Given the description of an element on the screen output the (x, y) to click on. 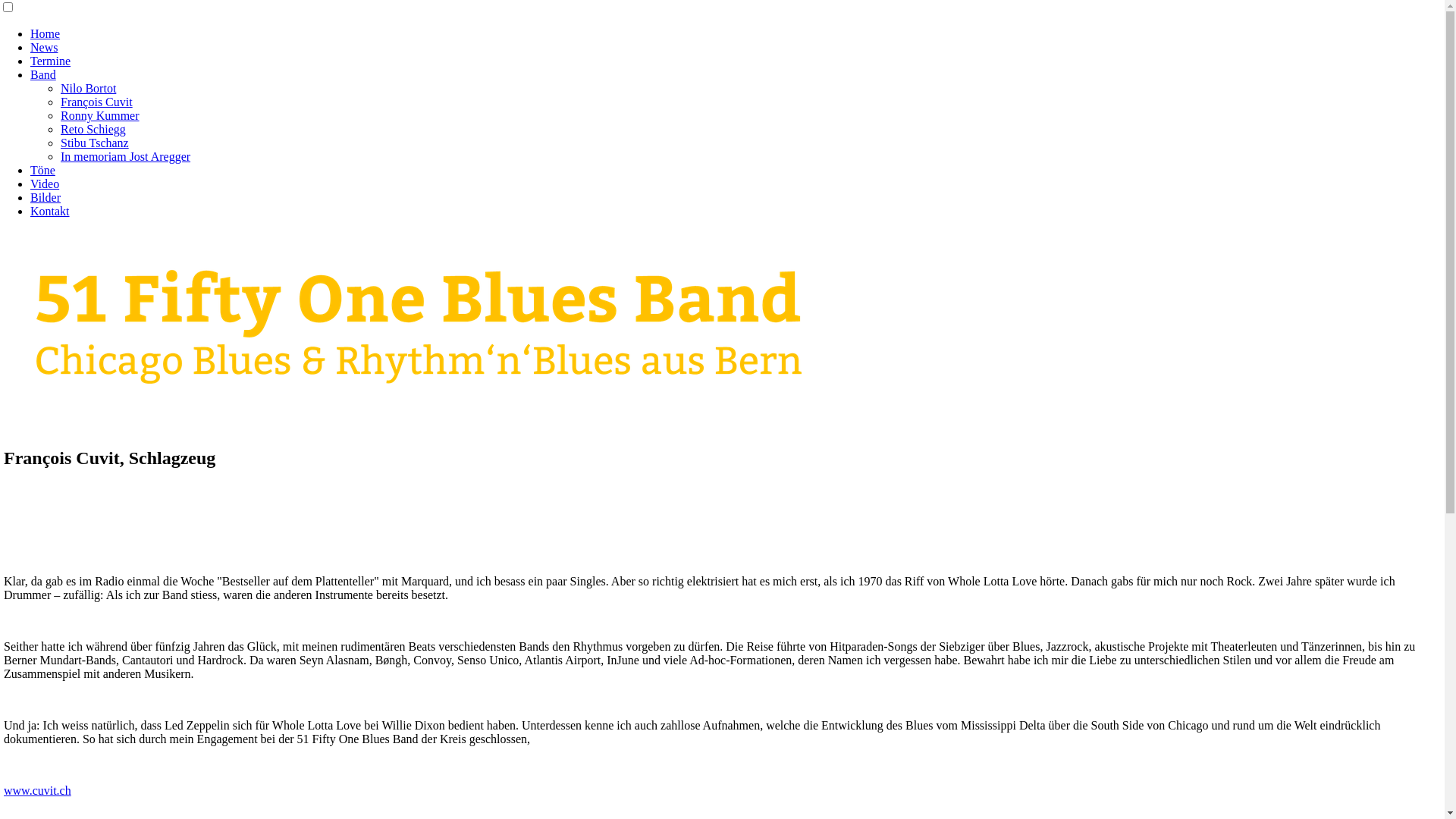
In memoriam Jost Aregger Element type: text (125, 156)
Kontakt Element type: text (49, 210)
Bilder Element type: text (45, 197)
News Element type: text (43, 46)
Video Element type: text (44, 183)
Nilo Bortot Element type: text (88, 87)
Band Element type: text (43, 74)
Home Element type: text (44, 33)
Ronny Kummer Element type: text (99, 115)
Reto Schiegg Element type: text (92, 128)
www.cuvit.ch Element type: text (37, 790)
Termine Element type: text (50, 60)
Stibu Tschanz Element type: text (94, 142)
